Given the description of an element on the screen output the (x, y) to click on. 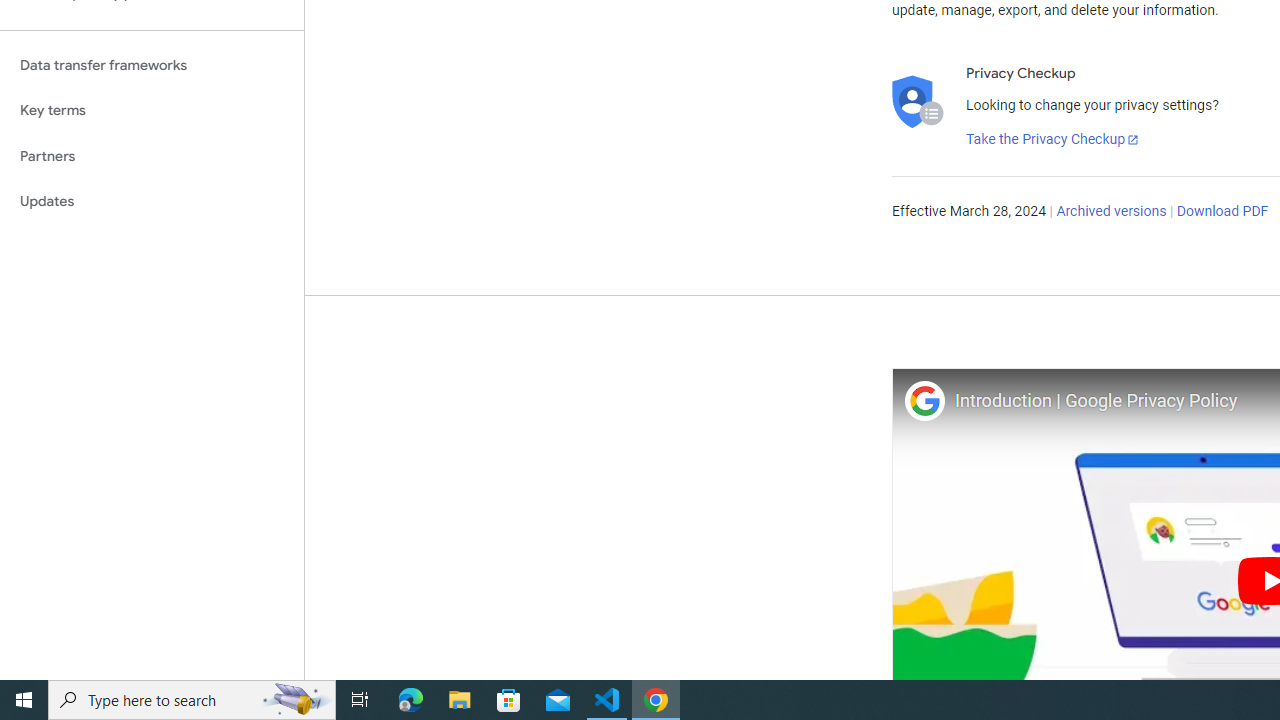
Photo image of Google (924, 400)
Take the Privacy Checkup (1053, 140)
